Given the description of an element on the screen output the (x, y) to click on. 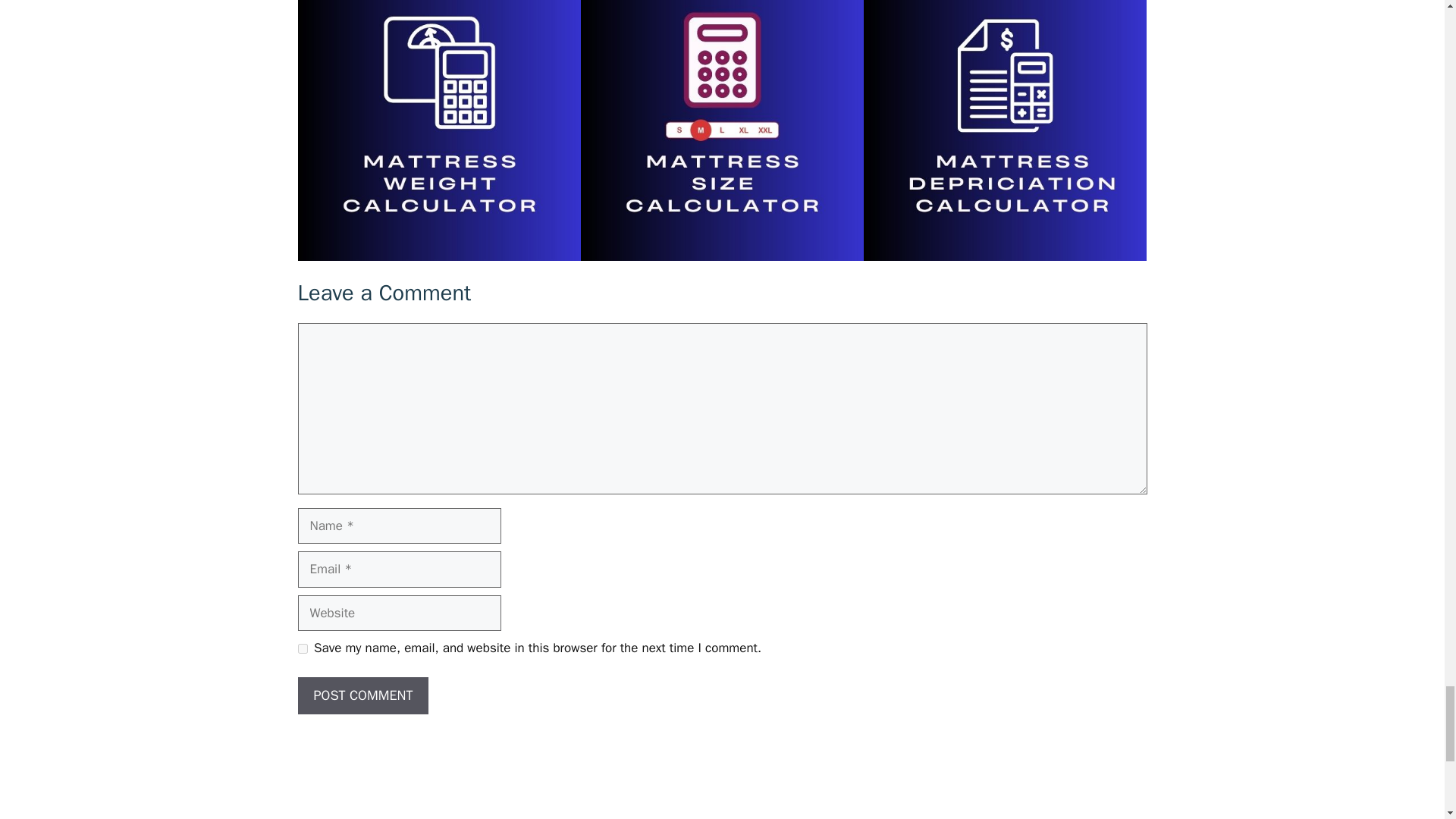
Post Comment (362, 695)
yes (302, 648)
